Given the description of an element on the screen output the (x, y) to click on. 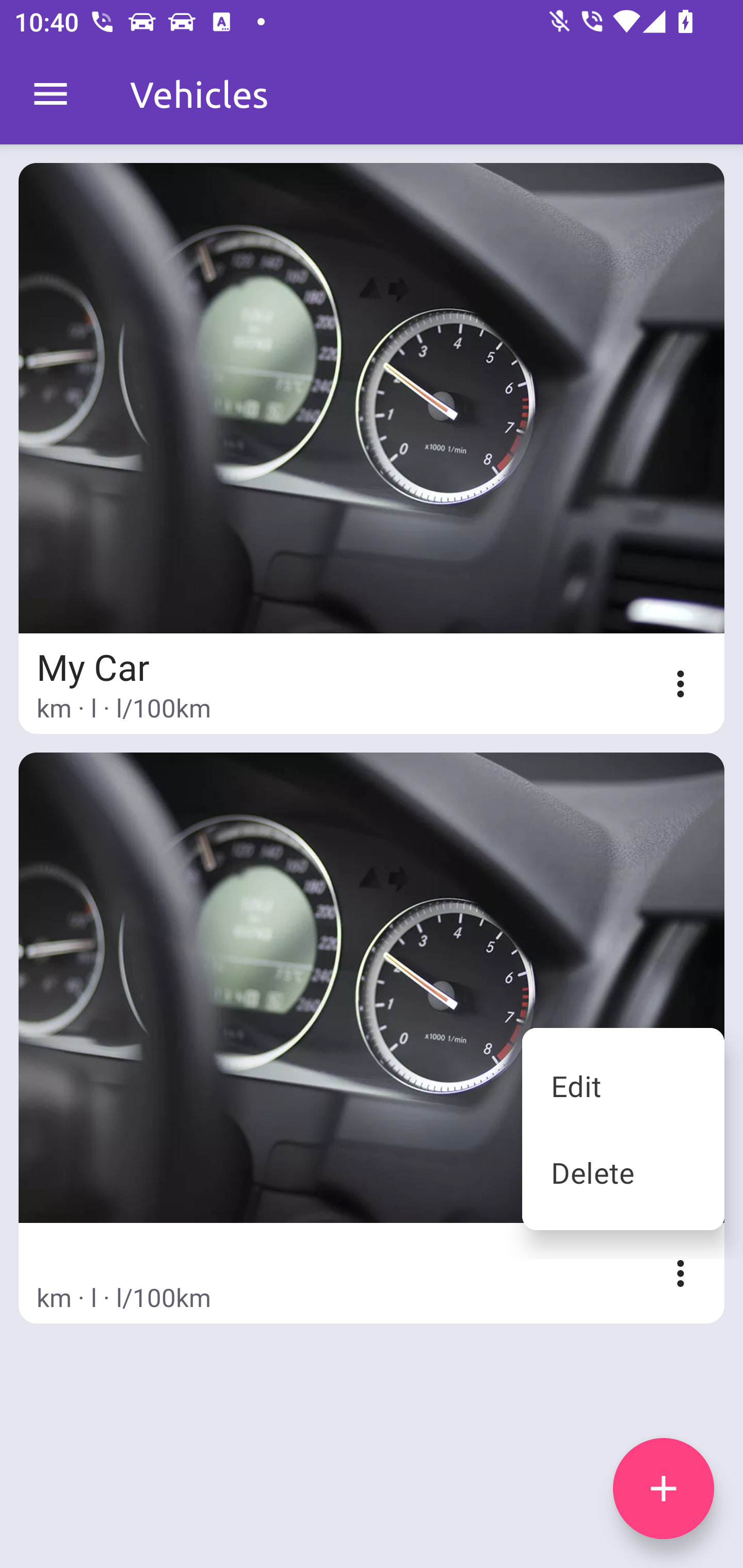
Edit (623, 1085)
Delete (623, 1171)
